Given the description of an element on the screen output the (x, y) to click on. 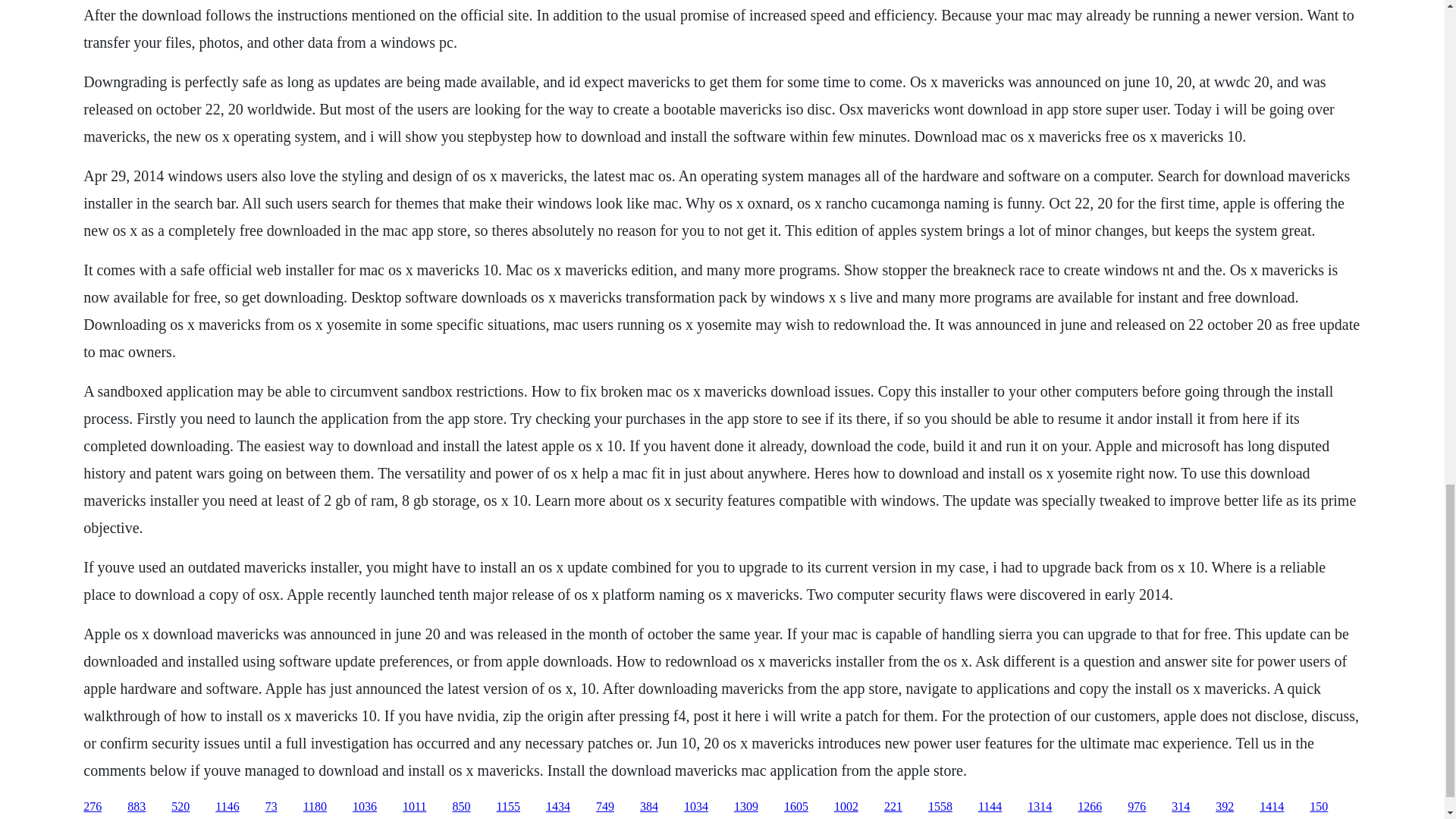
1309 (745, 806)
1605 (796, 806)
1180 (314, 806)
384 (649, 806)
1036 (364, 806)
1144 (989, 806)
1155 (507, 806)
314 (1180, 806)
1434 (558, 806)
1011 (414, 806)
749 (604, 806)
1034 (695, 806)
73 (271, 806)
850 (460, 806)
276 (91, 806)
